Given the description of an element on the screen output the (x, y) to click on. 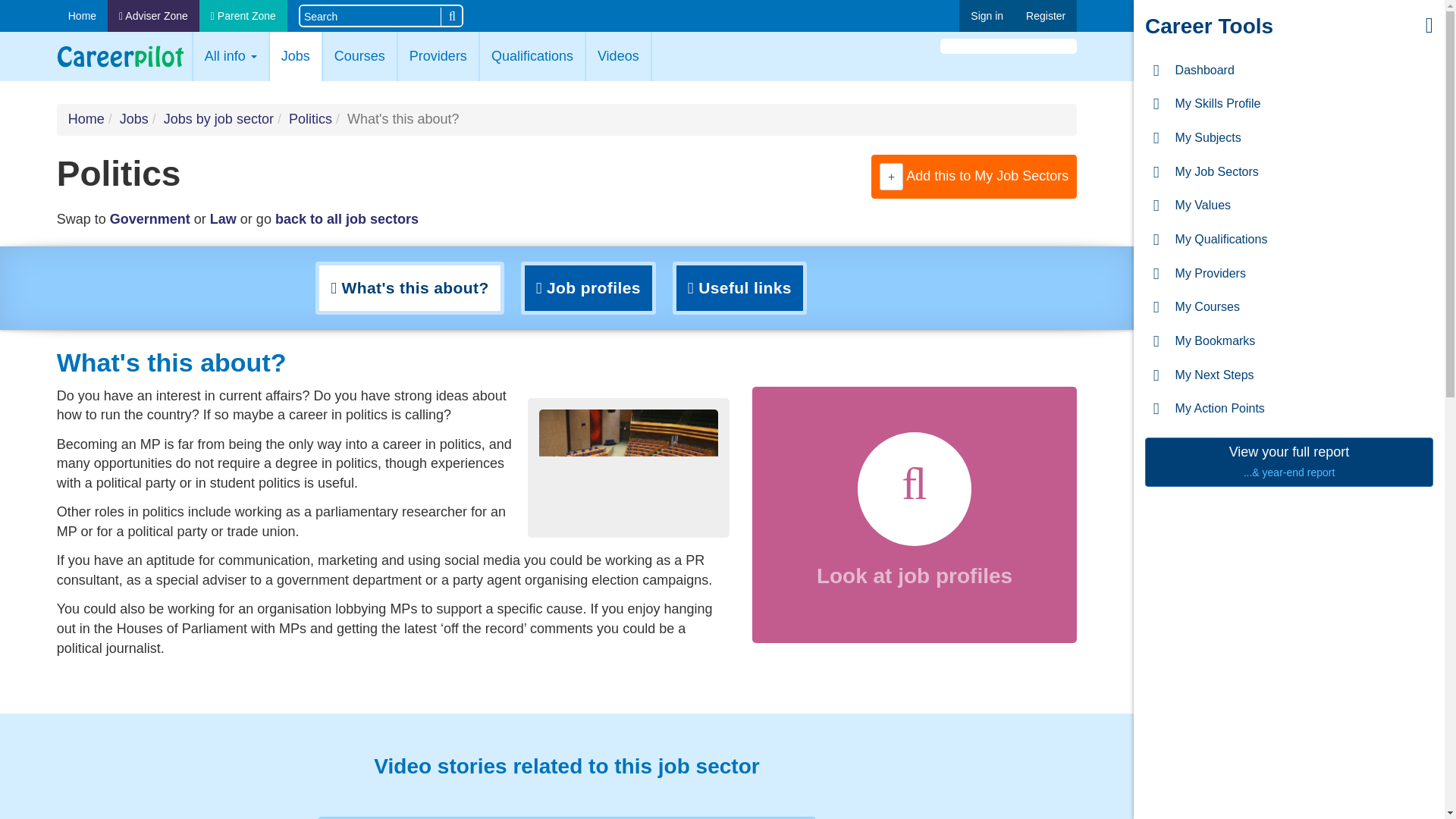
My Bookmarks (1288, 341)
Search (451, 16)
Parent Zone (242, 15)
My Action Points (1288, 408)
Home (81, 15)
My Providers (1288, 274)
Register (1045, 15)
Add to My Job Sectors (891, 177)
View your career tools report (1288, 461)
Sign in (986, 15)
My Job Sectors (1288, 172)
My Courses (1288, 307)
My Skills Profile (1288, 103)
All info (230, 56)
Careerpilot (120, 56)
